Given the description of an element on the screen output the (x, y) to click on. 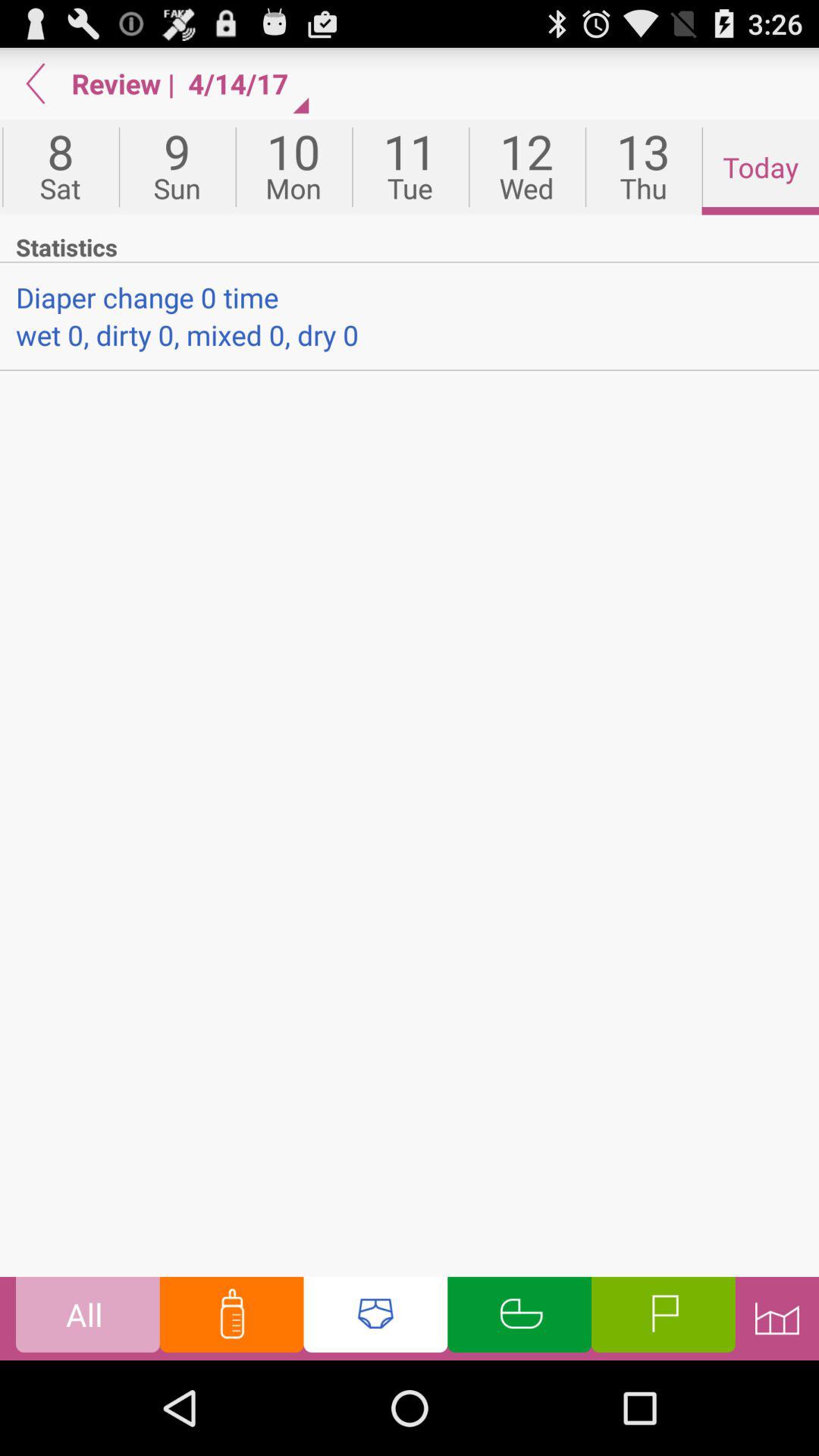
select the icon to the left of the 9 item (60, 166)
